Given the description of an element on the screen output the (x, y) to click on. 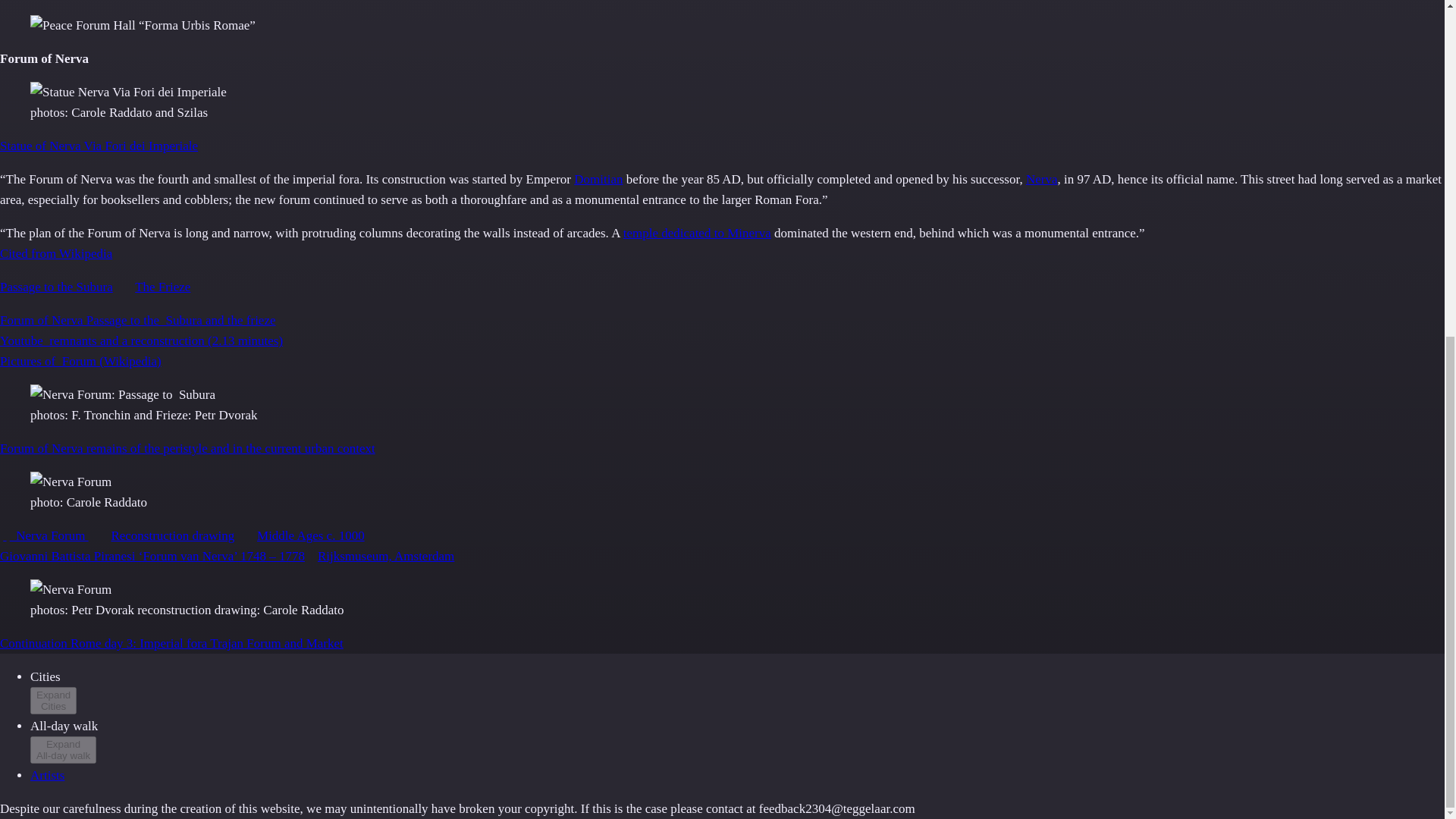
Statue of Nerva Via Fori dei Imperiale (99, 145)
Domitian (598, 178)
Passage to the Subura (56, 287)
temple dedicated to Minerva (697, 233)
Cited from Wikipedia (56, 253)
 Nerva Forum (49, 535)
Forum of Nerva Passage to the  Subura and the frieze (138, 319)
The Frieze (162, 287)
Reconstruction drawing (172, 535)
Nerva (1042, 178)
